Given the description of an element on the screen output the (x, y) to click on. 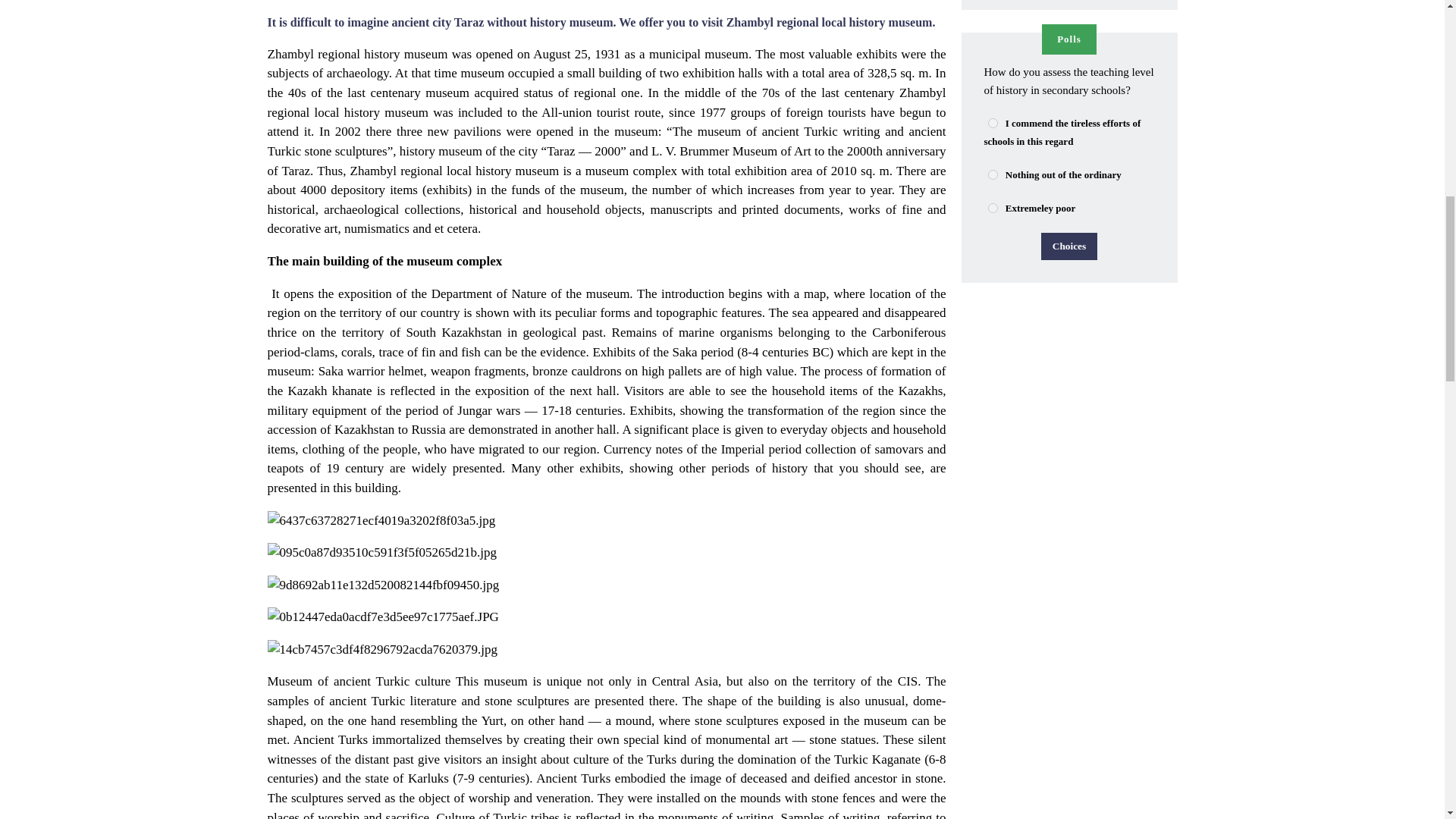
448 (992, 122)
449 (992, 174)
450 (992, 207)
